Given the description of an element on the screen output the (x, y) to click on. 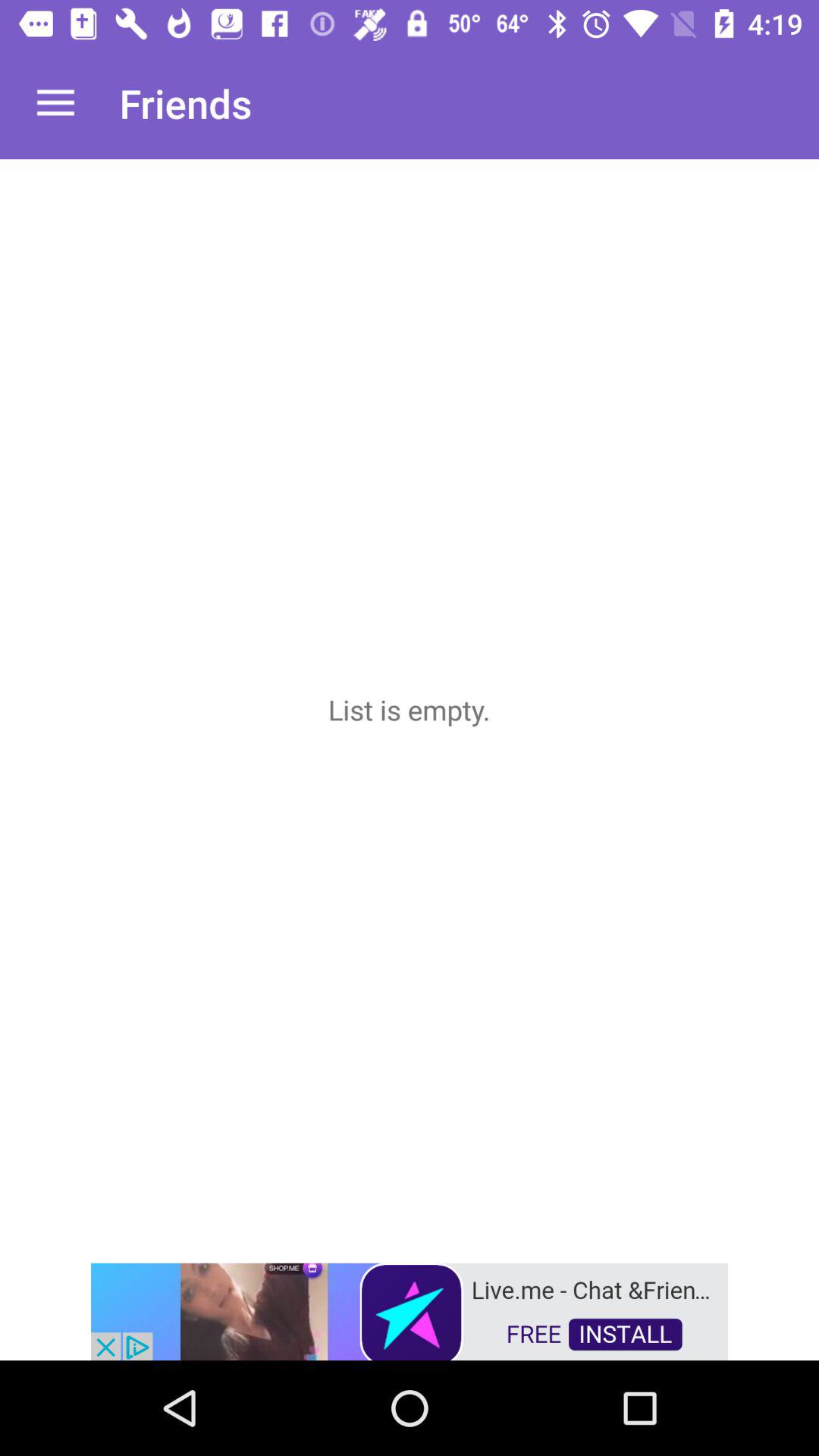
advertisement (409, 1310)
